Given the description of an element on the screen output the (x, y) to click on. 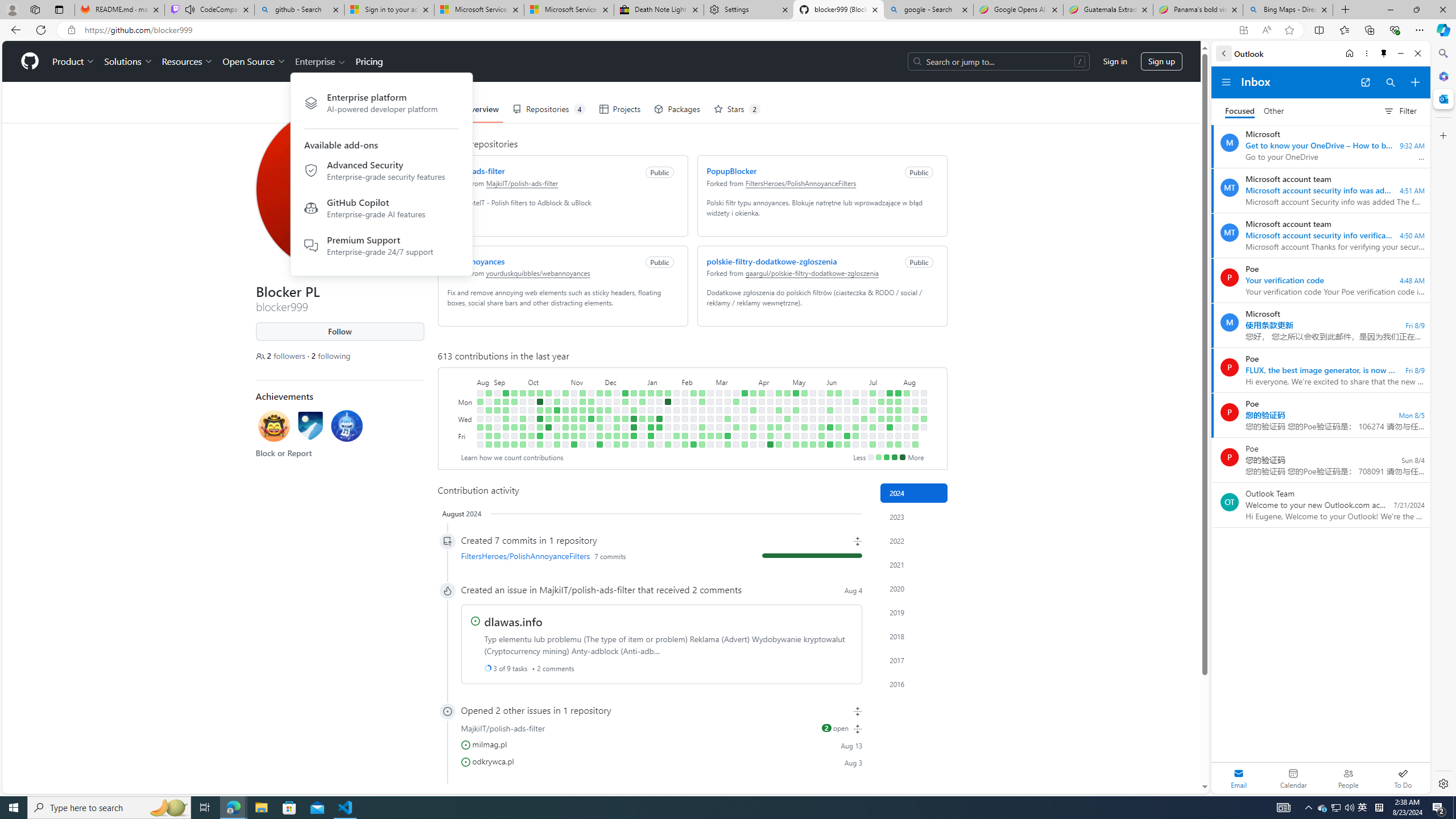
Wednesday (465, 418)
1 contribution on August 27th. (488, 392)
No contributions on March 14th. (726, 427)
Folder navigation (1225, 82)
Contribution activity in 2021 (913, 564)
No contributions on August 2nd. (897, 435)
No contributions on April 11th. (761, 427)
No contributions on June 30th. (863, 392)
1 contribution on October 28th. (556, 444)
No contributions on July 1st. (863, 401)
No contributions on May 19th. (812, 392)
No contributions on June 10th. (837, 401)
1 contribution on May 3rd. (786, 435)
No contributions on April 22nd. (777, 401)
